Given the description of an element on the screen output the (x, y) to click on. 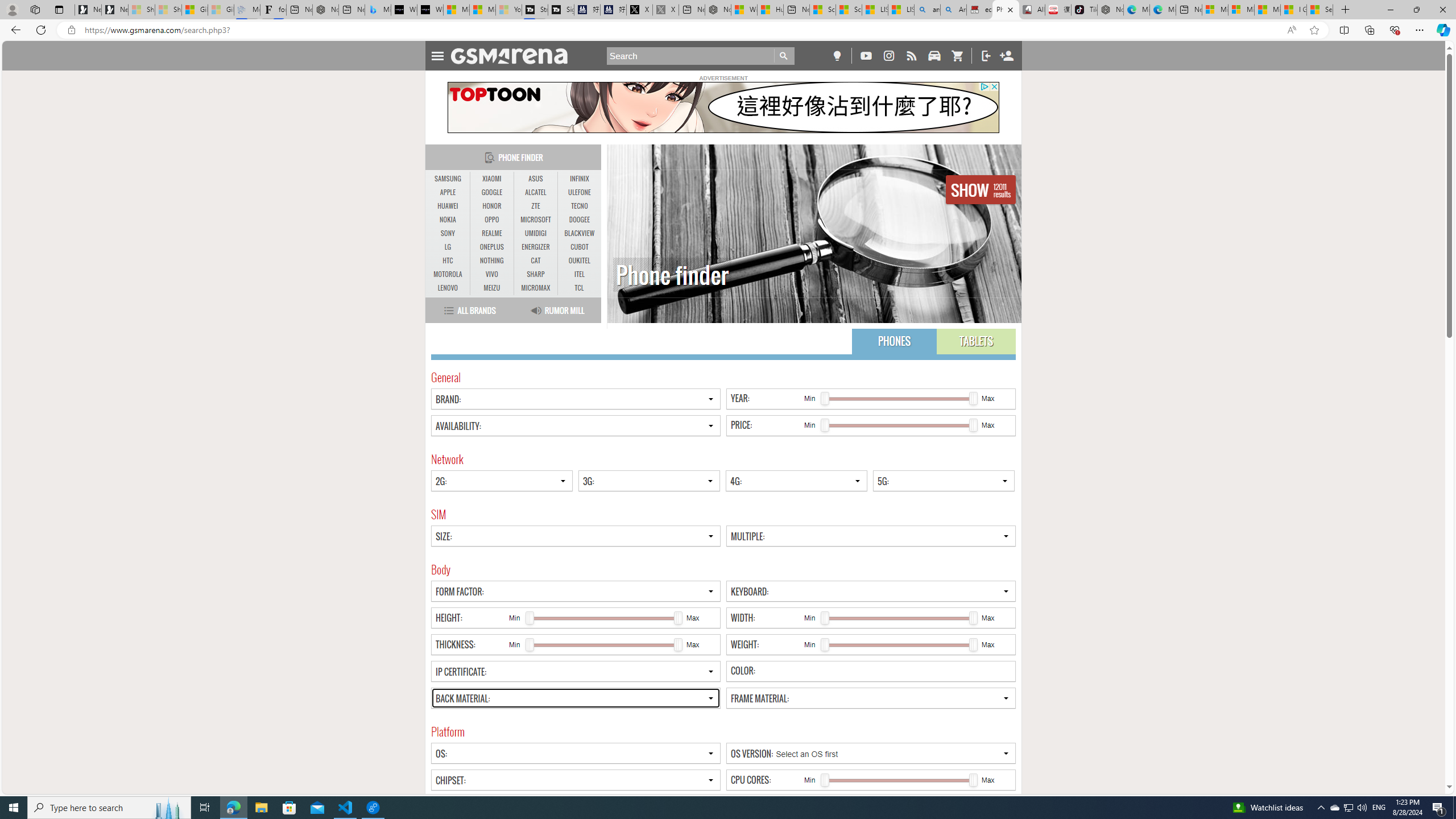
DOOGEE (579, 219)
MICROMAX (535, 287)
TECNO (579, 205)
BLACKVIEW (579, 233)
TikTok (1083, 9)
MOTOROLA (448, 273)
CAT (535, 260)
MOTOROLA (448, 273)
ENERGIZER (535, 246)
Streaming Coverage | T3 (534, 9)
